Given the description of an element on the screen output the (x, y) to click on. 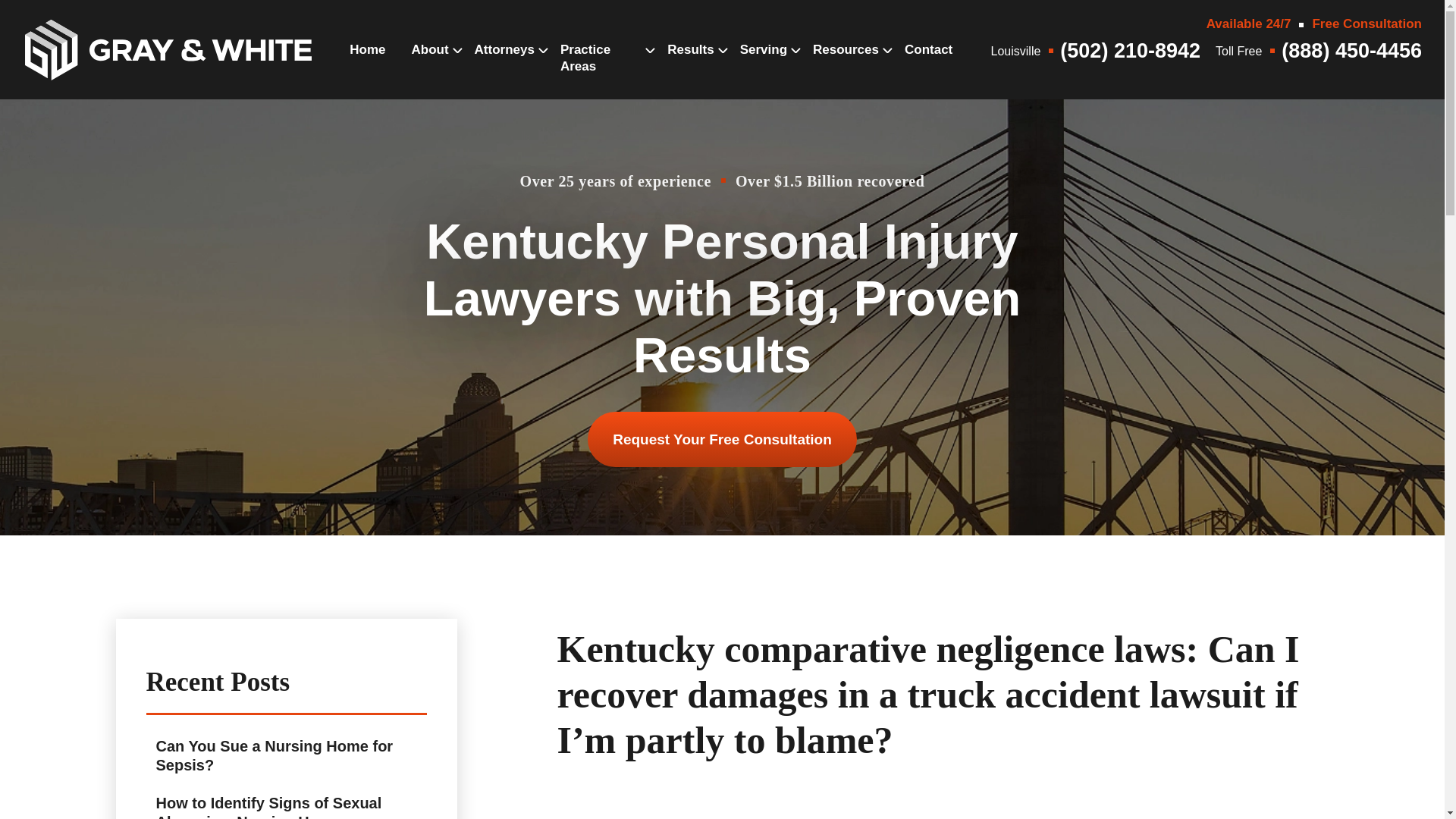
Resources (845, 64)
Results (689, 64)
Attorneys (504, 64)
Practice Areas (601, 73)
Serving (763, 64)
